Given the description of an element on the screen output the (x, y) to click on. 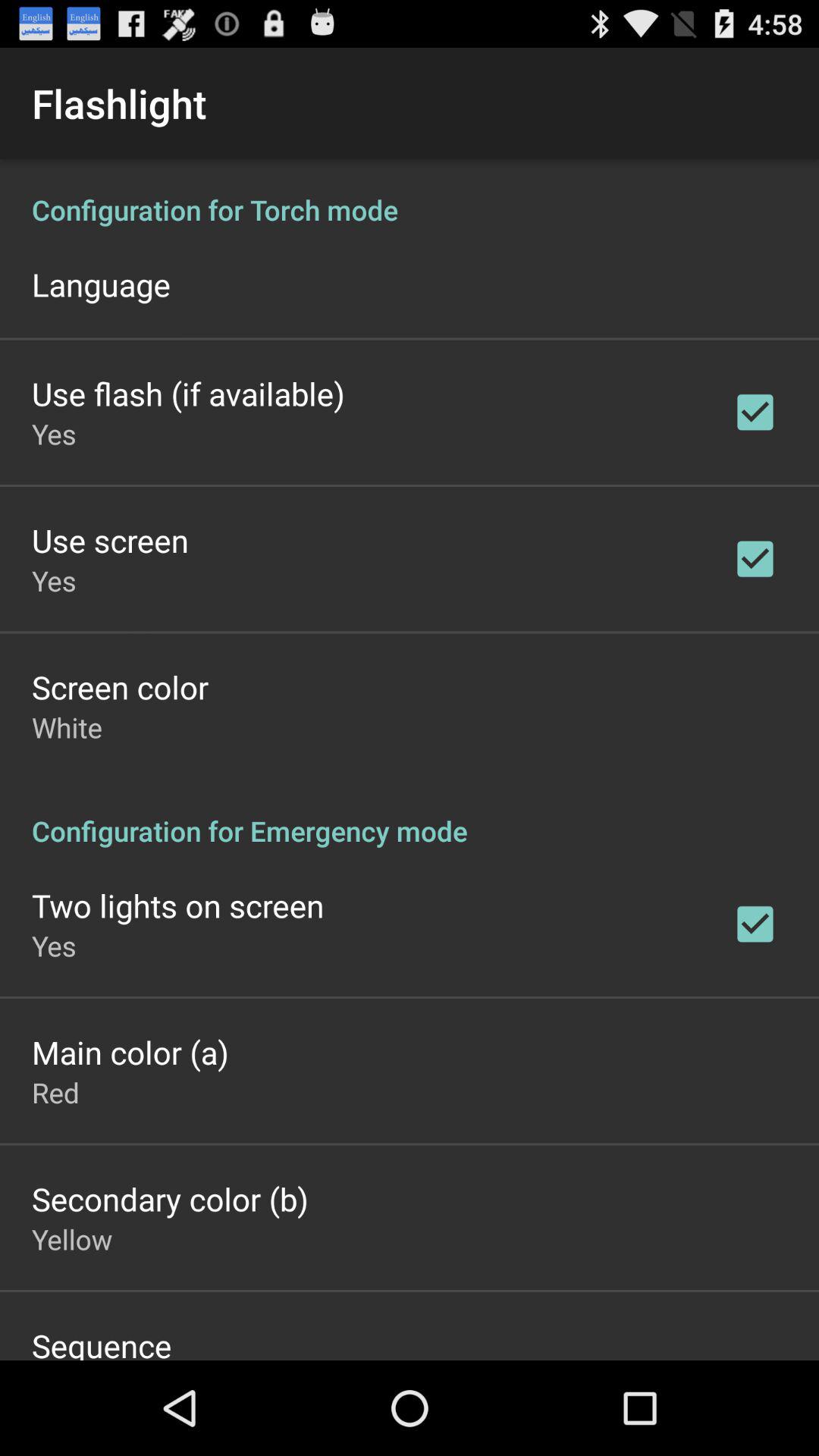
tap app below yes app (129, 1051)
